Given the description of an element on the screen output the (x, y) to click on. 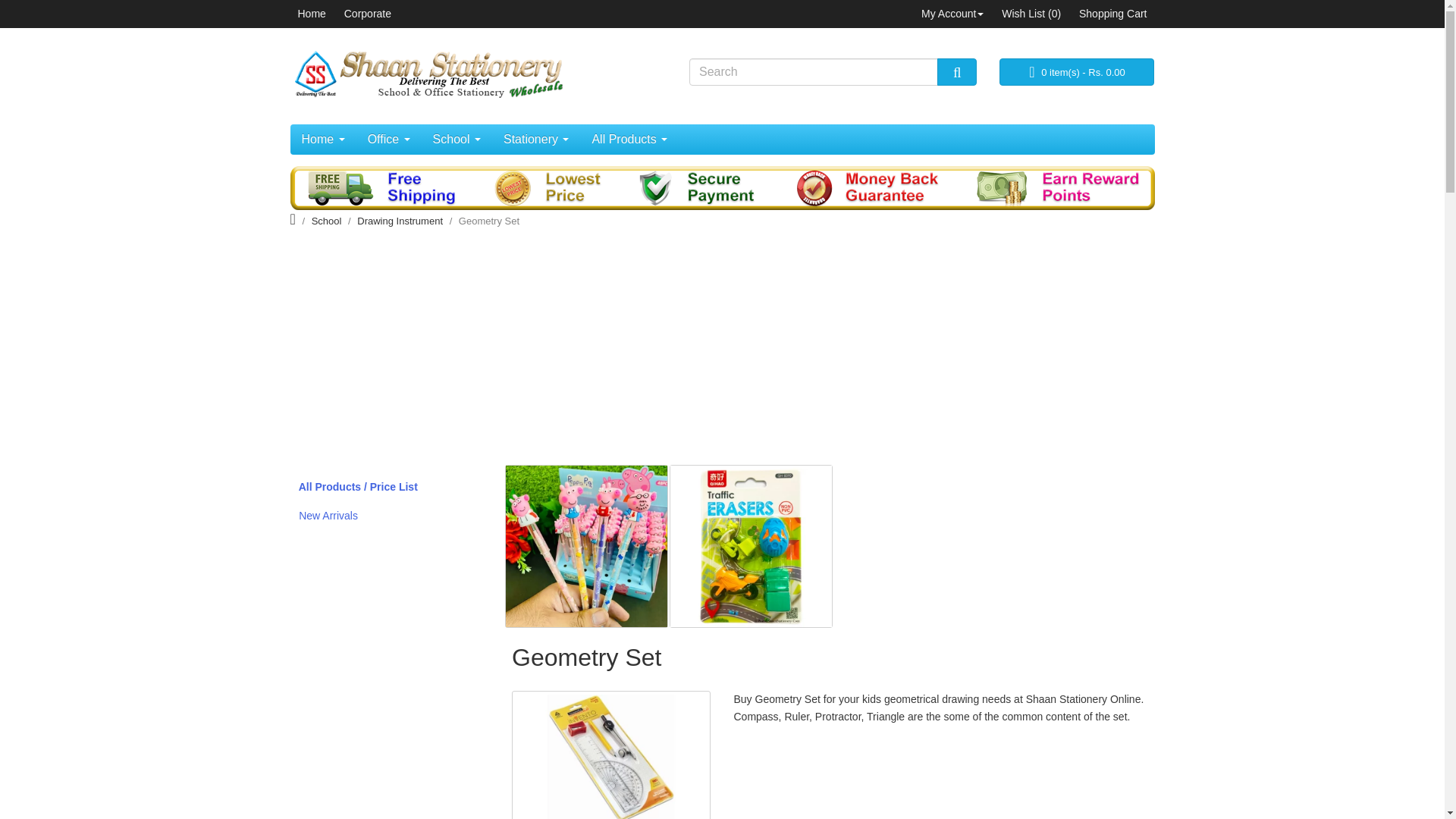
Home (310, 13)
Shopping Cart (1112, 13)
My Account (952, 13)
Office (389, 139)
Home Portal (310, 13)
School (457, 139)
Shopping Cart (1112, 13)
Corporate (367, 13)
Corporate Portal (367, 13)
Home (322, 139)
My Account (952, 13)
Geometry Set (611, 755)
Shaan Stationery - Wholesale (425, 73)
